Given the description of an element on the screen output the (x, y) to click on. 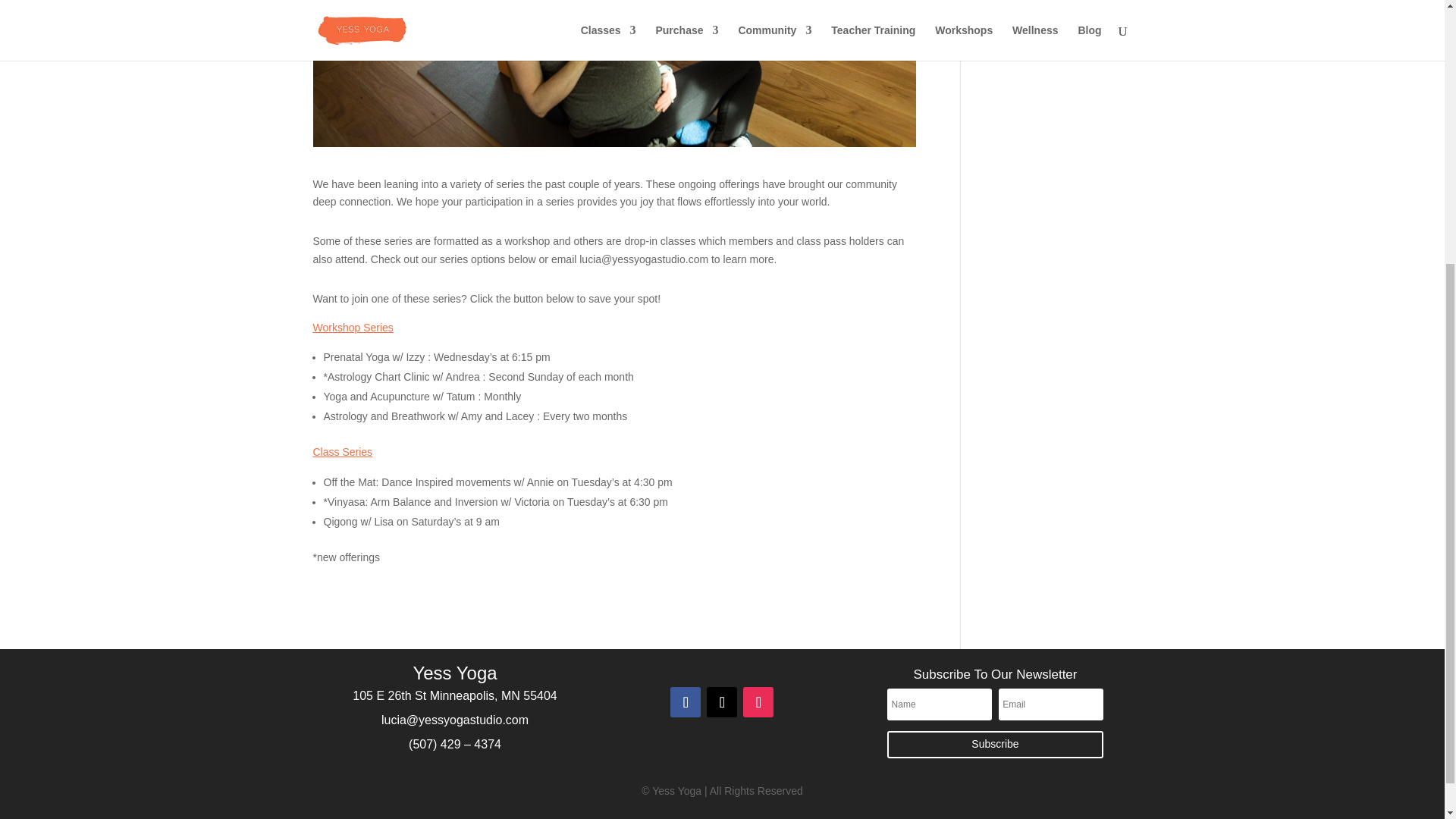
Follow on X (721, 702)
Follow on Facebook (684, 702)
Workshop Series (353, 327)
Class Series (342, 451)
Follow on Instagram (757, 702)
